Given the description of an element on the screen output the (x, y) to click on. 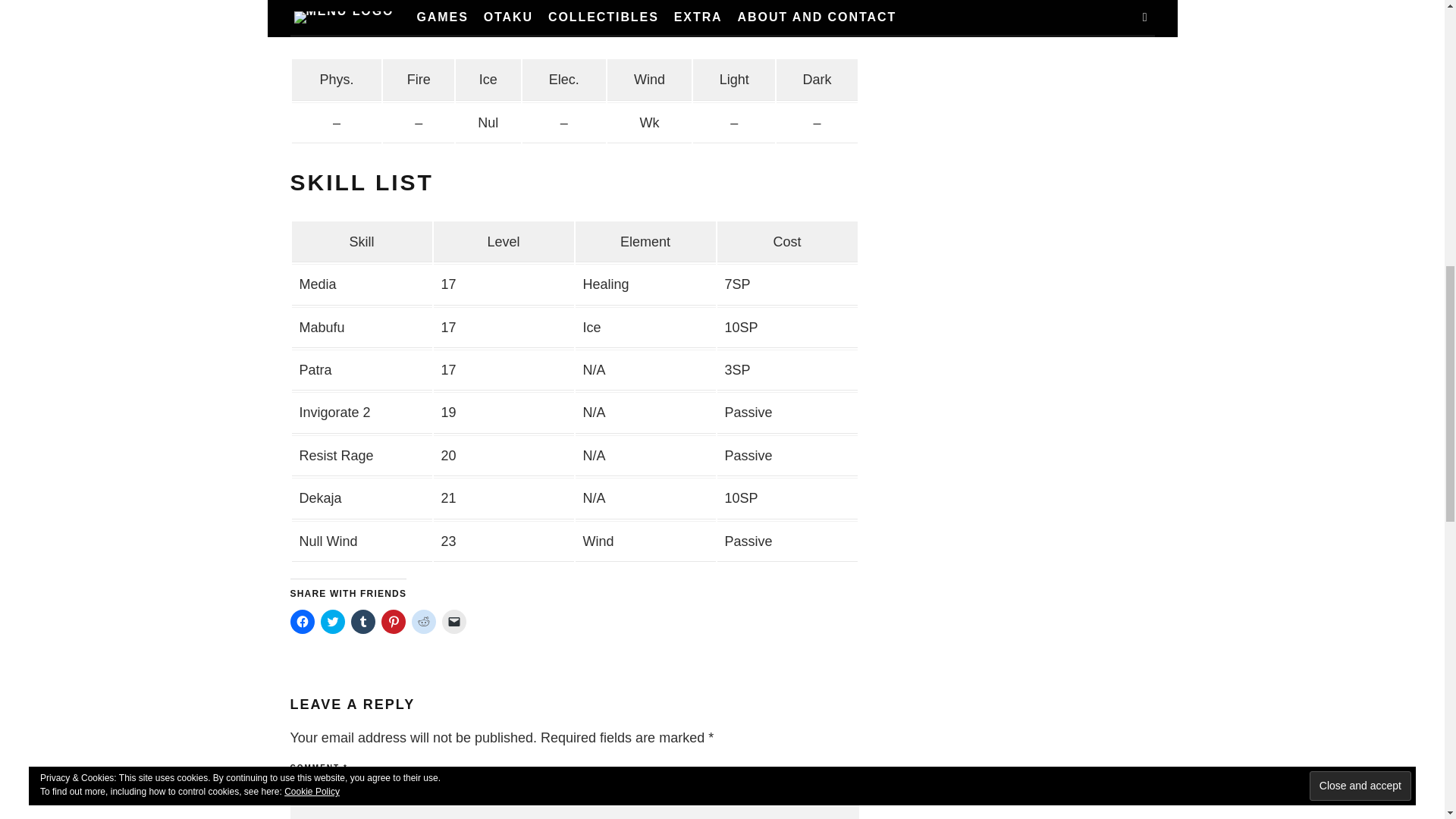
Click to share on Tumblr (362, 621)
Click to share on Twitter (331, 621)
Click to share on Reddit (422, 621)
Click to share on Pinterest (392, 621)
Click to share on Facebook (301, 621)
Click to email a link to a friend (453, 621)
